Given the description of an element on the screen output the (x, y) to click on. 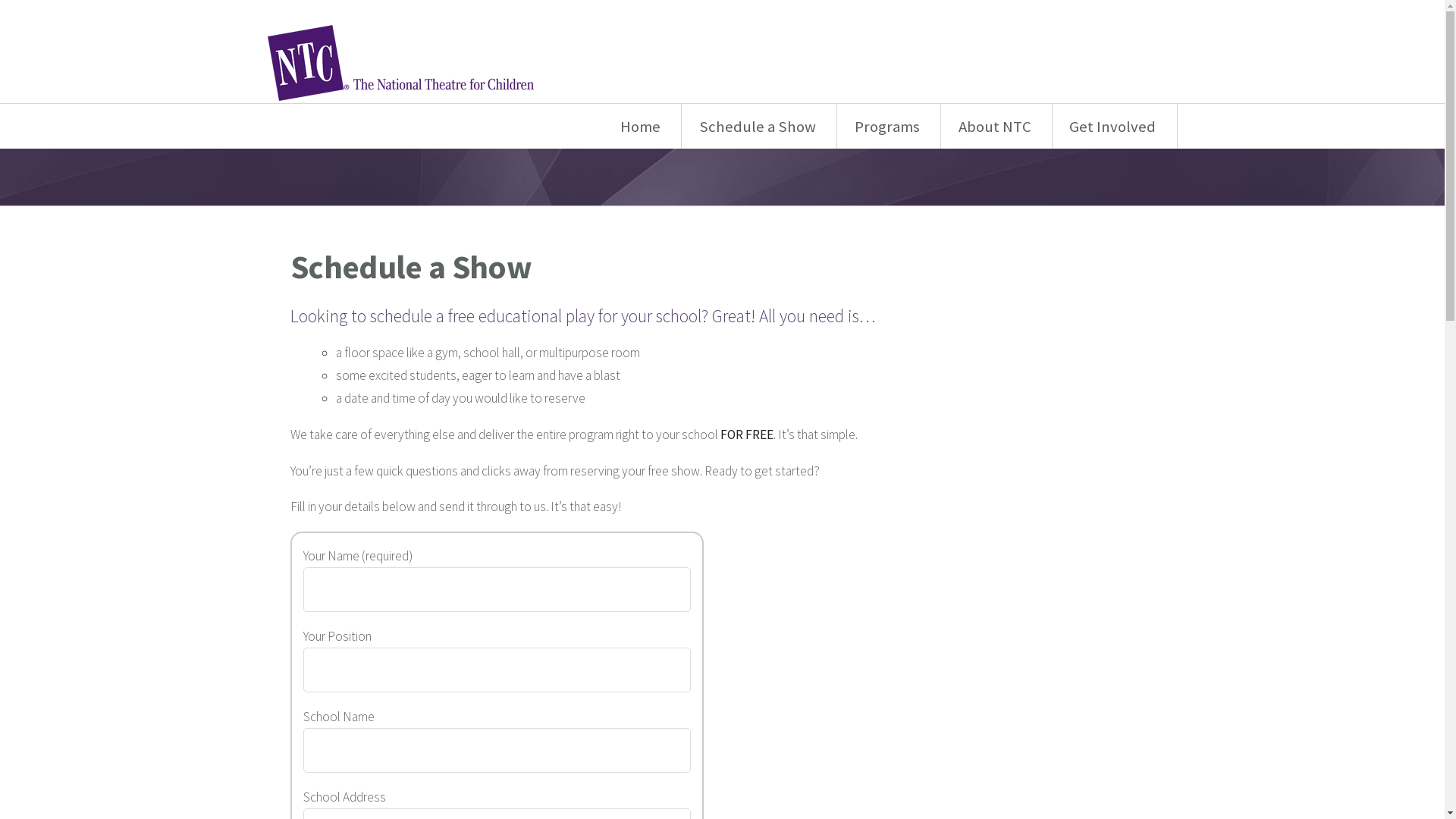
Schedule a Show Element type: text (759, 125)
About NTC Element type: text (996, 125)
Get Involved Element type: text (1114, 125)
Programs Element type: text (889, 125)
Home Element type: text (641, 125)
